Given the description of an element on the screen output the (x, y) to click on. 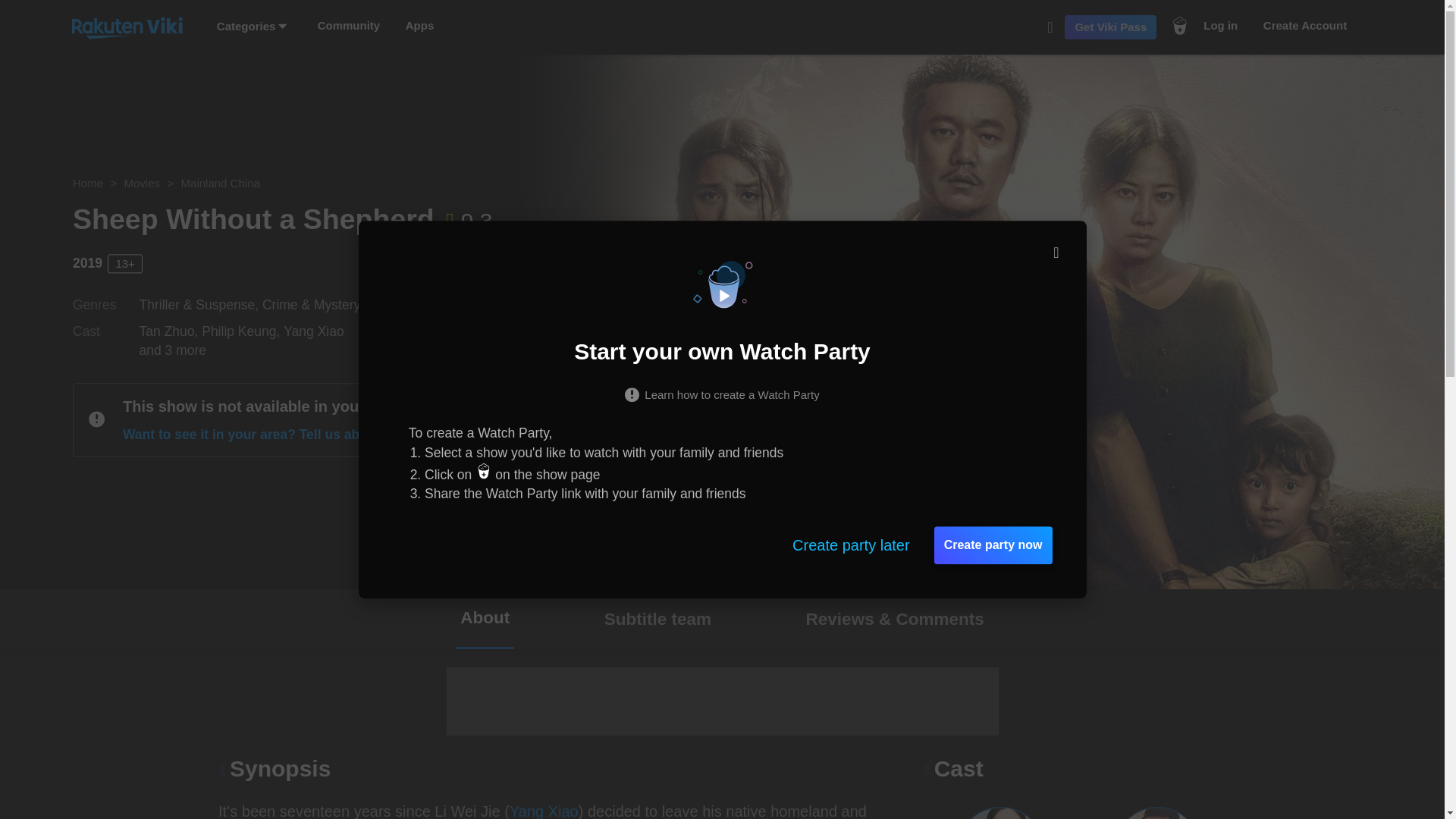
Yang Xiao (313, 331)
Create party now (993, 545)
Movies (141, 183)
Get Viki Pass (1110, 27)
Philip Keung, (242, 331)
Tan Zhuo, (170, 331)
Yang Xiao (543, 811)
Apps (419, 25)
About (484, 618)
Drama (386, 305)
